Given the description of an element on the screen output the (x, y) to click on. 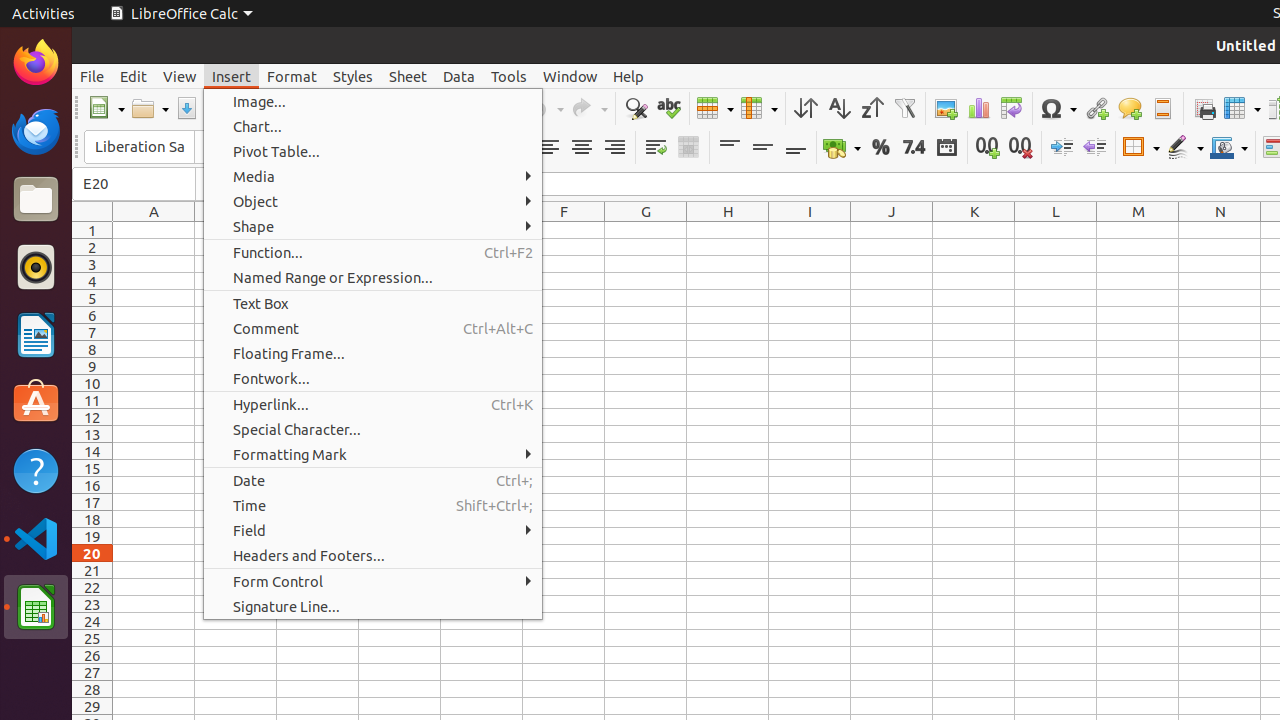
Border Style Element type: push-button (1185, 147)
Open Element type: push-button (150, 108)
Window Element type: menu (570, 76)
H1 Element type: table-cell (728, 230)
LibreOffice Writer Element type: push-button (36, 334)
